Given the description of an element on the screen output the (x, y) to click on. 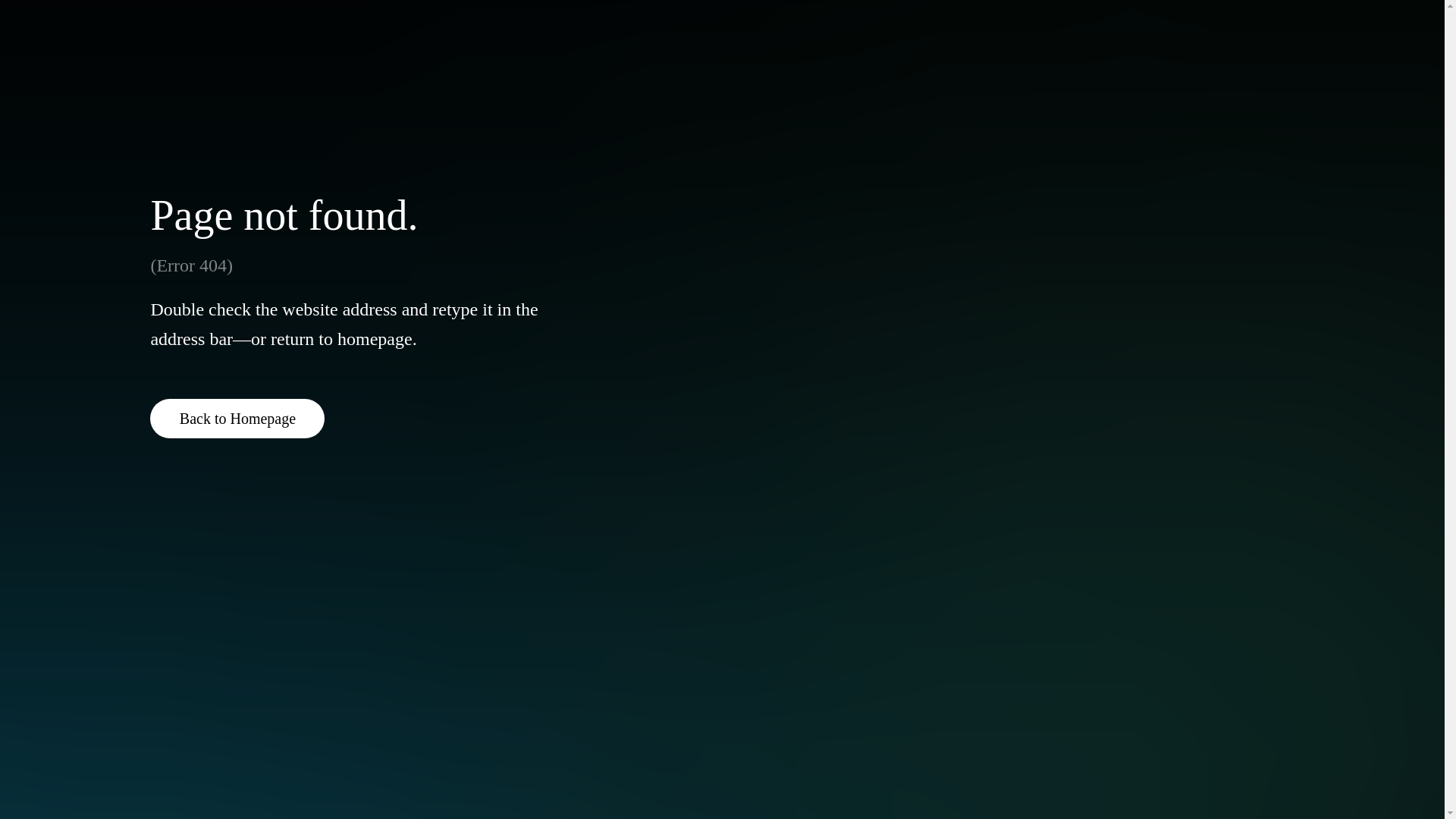
Back to Homepage (236, 418)
